Given the description of an element on the screen output the (x, y) to click on. 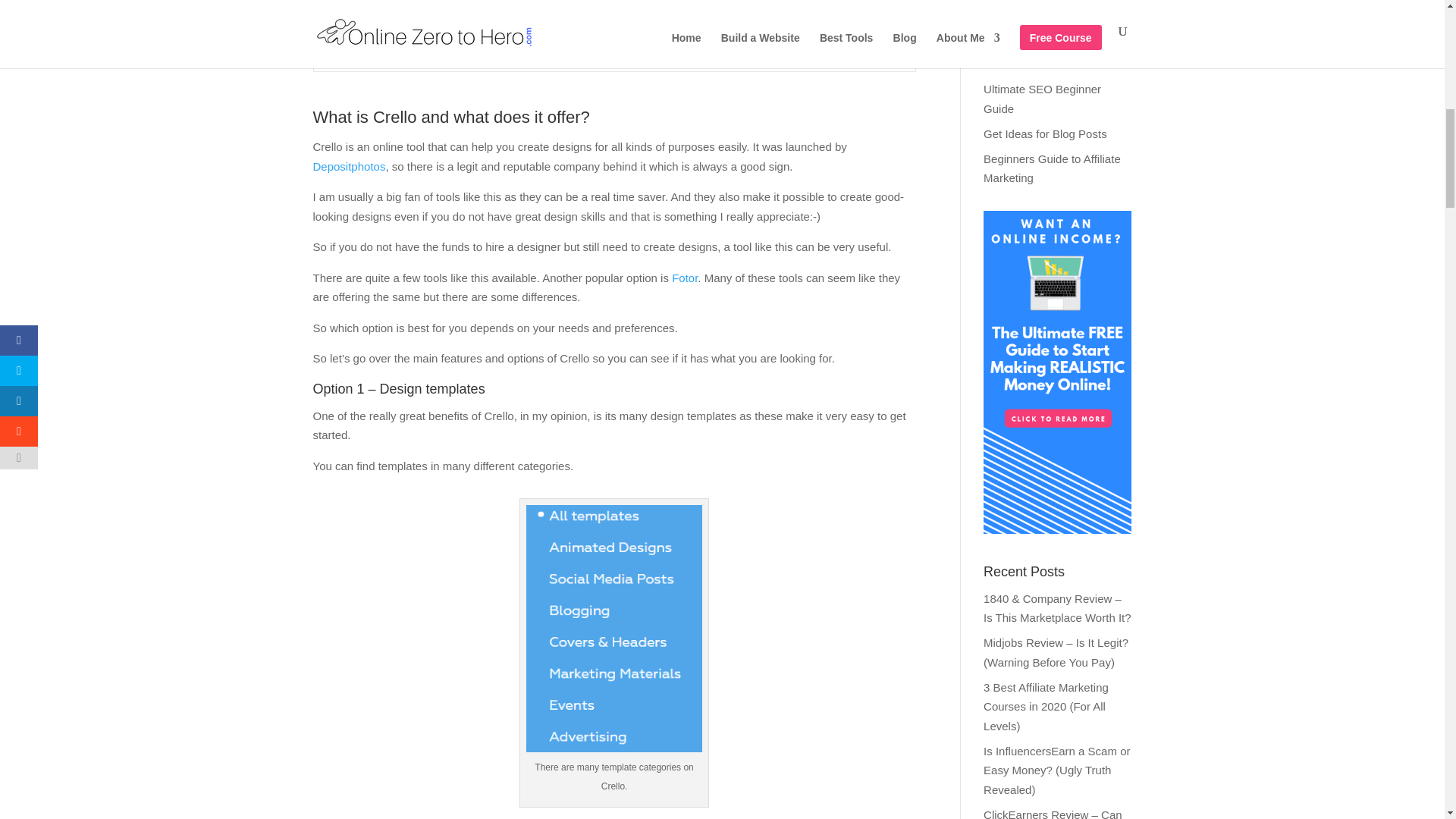
Ultimate SEO Beginner Guide (1042, 98)
How to Write Awesome Content (1042, 54)
Fotor (684, 277)
Depositphotos (349, 165)
Click to Check Out Crello for Yourself (425, 53)
